Given the description of an element on the screen output the (x, y) to click on. 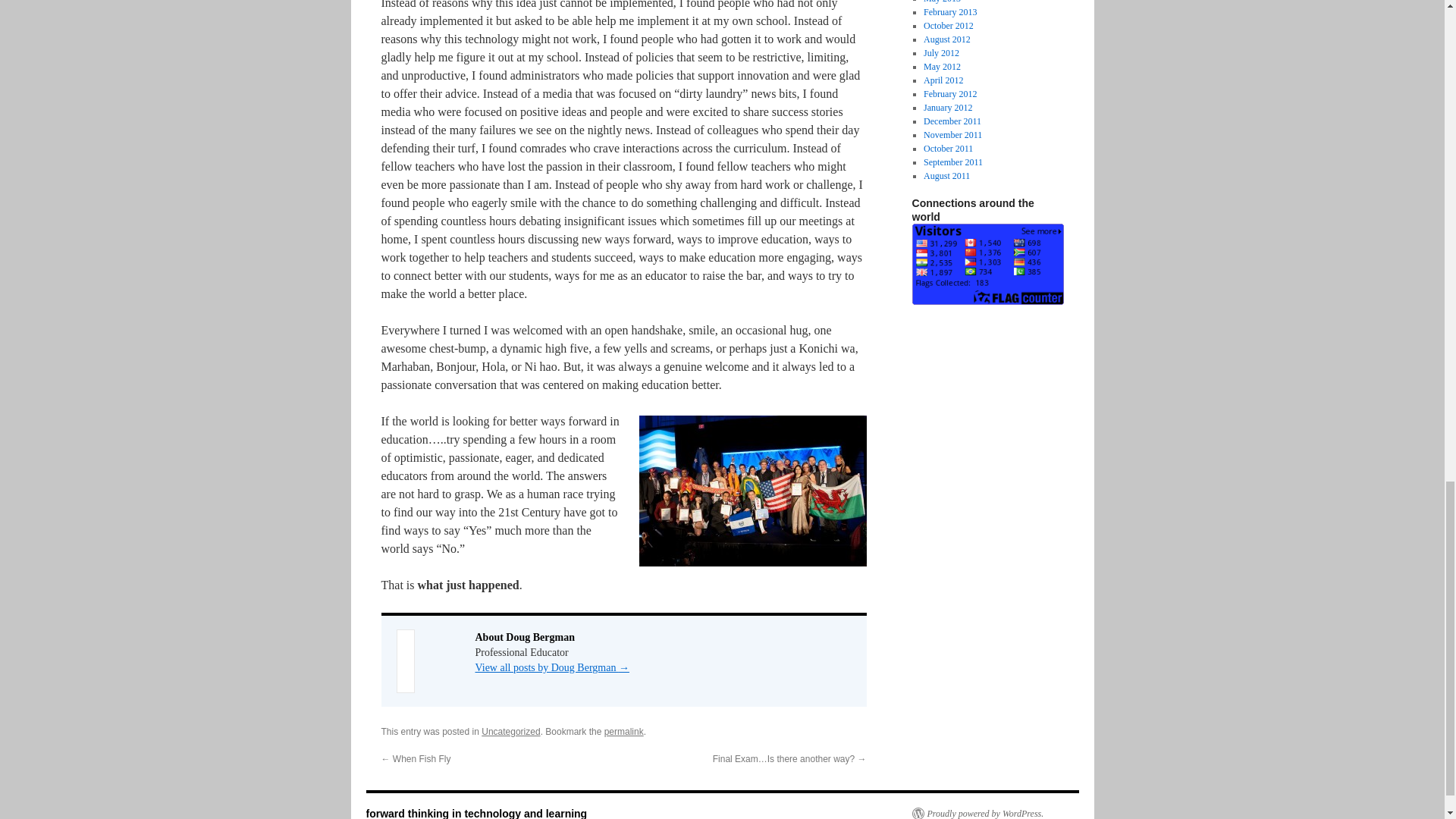
Uncategorized (510, 731)
Some of the leading educators in the world saying "YES" (752, 490)
Permalink to What just happened? (623, 731)
permalink (623, 731)
